Given the description of an element on the screen output the (x, y) to click on. 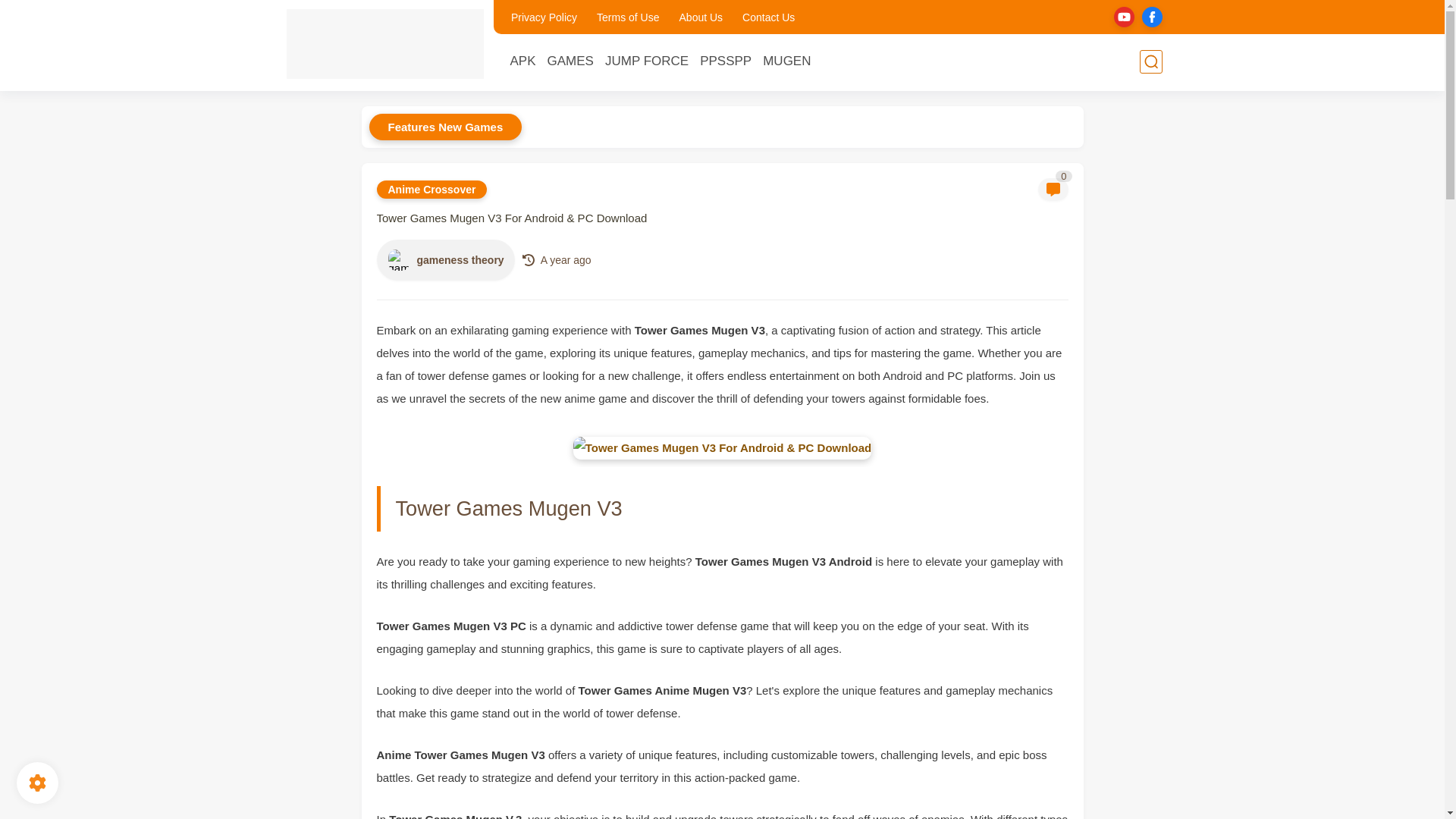
0 (1051, 189)
GAMES (570, 61)
gameness theory (398, 259)
Contact Us (768, 17)
MUGEN (786, 61)
youtube (1123, 16)
facebook (1151, 16)
Gameness Theory - APK Mod and MUGEN Games Download (384, 44)
APK (522, 61)
GAMES (570, 61)
JUMP FORCE (646, 61)
Anime Crossover (430, 189)
Article Update Date (565, 259)
PPSSPP (725, 61)
Privacy Policy (544, 17)
